Given the description of an element on the screen output the (x, y) to click on. 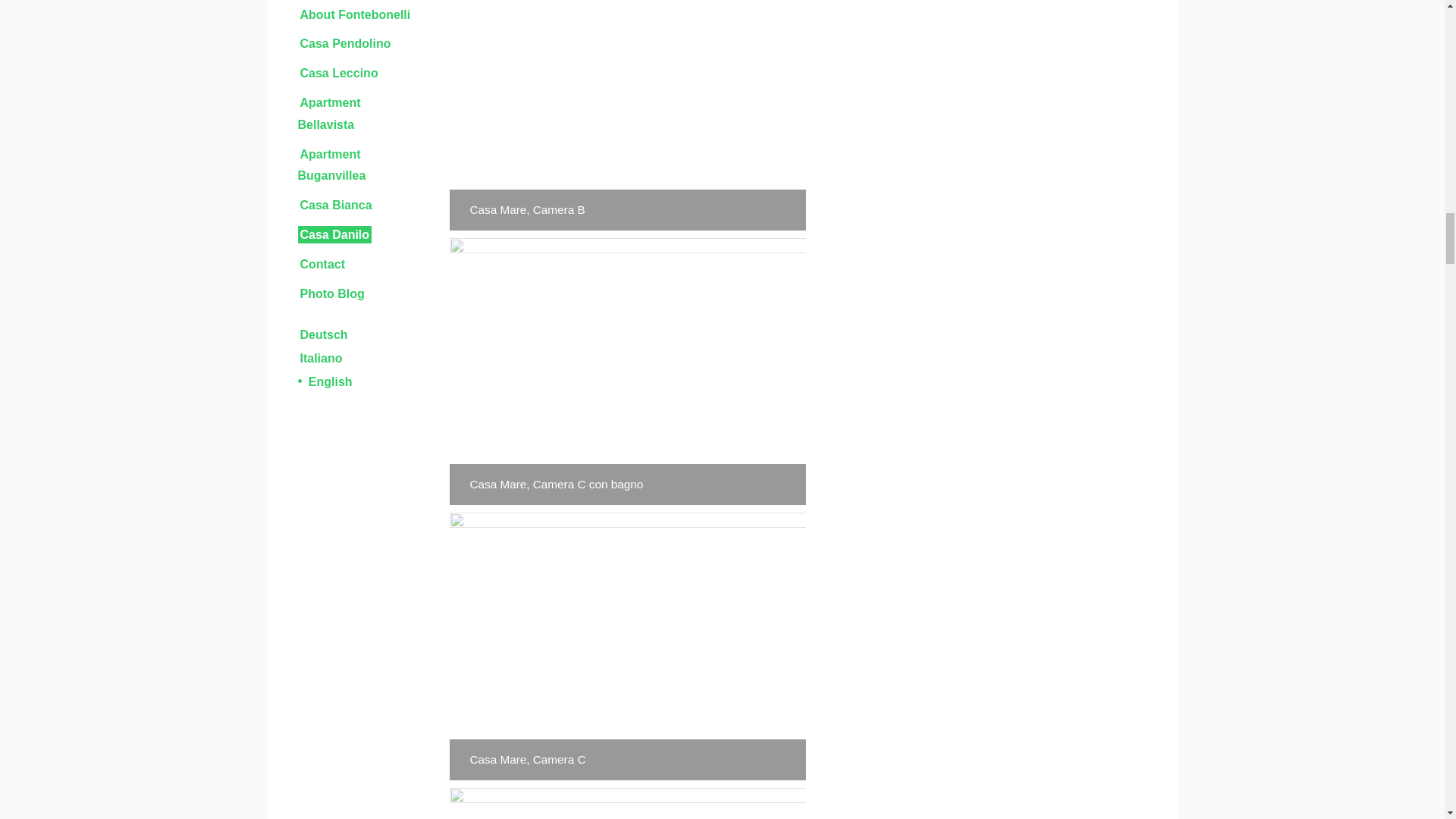
Casa Mare, Camera C (626, 803)
Casa Mare, Camera C (626, 646)
Casa Mare, Camera B (626, 115)
Casa Mare, Camera C (626, 646)
Casa Mare, Camera B (626, 115)
Casa Mare, Camera C (626, 803)
Casa Mare, Camera C con bagno (626, 372)
Casa Mare, Camera C con bagno (626, 372)
